Given the description of an element on the screen output the (x, y) to click on. 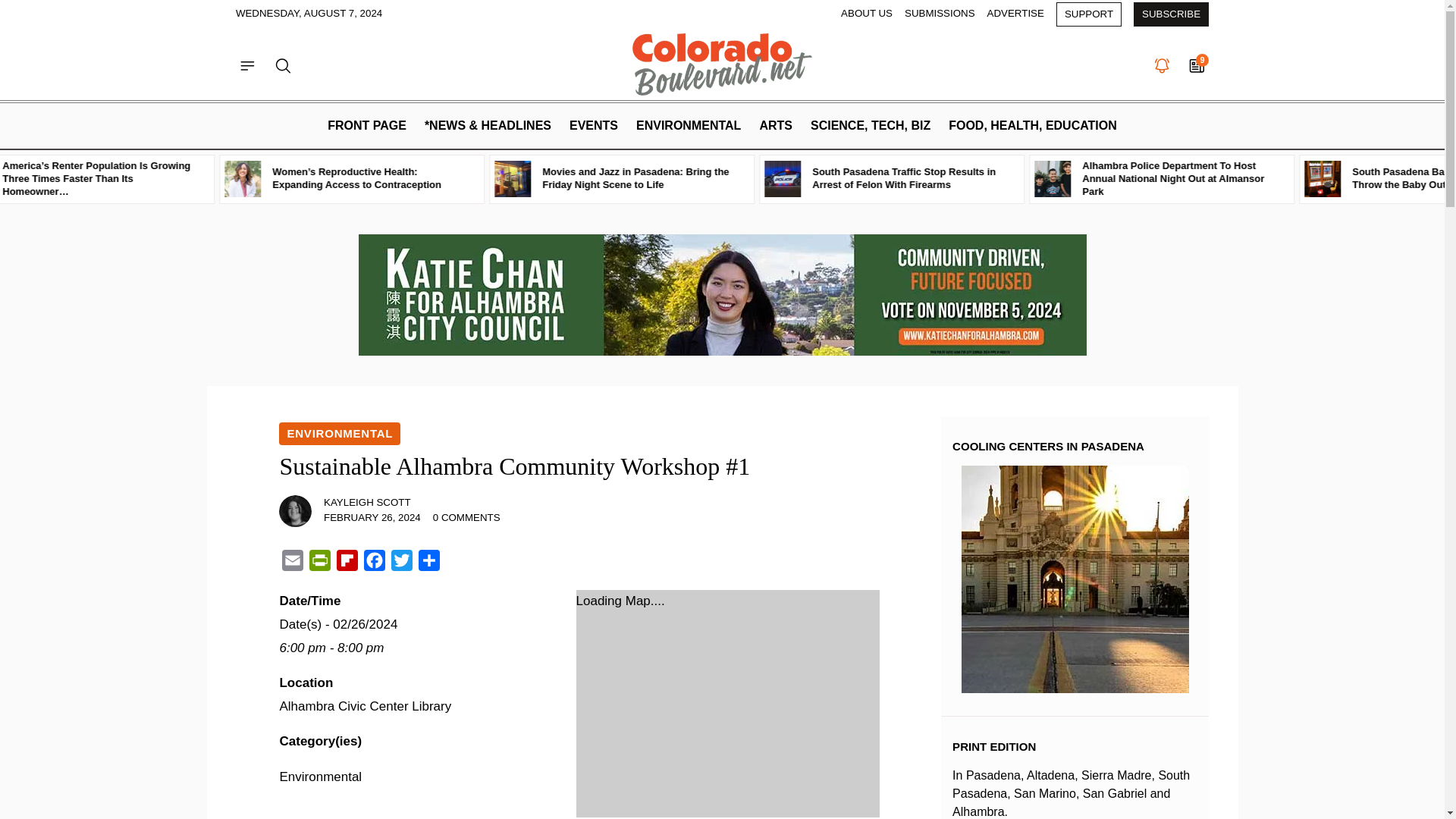
FRONT PAGE (366, 125)
Pasadena Front Page (366, 125)
Tom Cruise at the Paris Olympics, and Rose Bowl? (88, 178)
SUPPORT (1089, 14)
ColoradoBoulevard.net (722, 64)
ADVERTISE (1015, 13)
ARTS (774, 125)
SCIENCE, TECH, BIZ (870, 125)
FOOD, HEALTH, EDUCATION (1032, 125)
Pasadena Events (593, 125)
ENVIRONMENTAL (688, 125)
SUBMISSIONS (939, 13)
ABOUT US (866, 13)
